Given the description of an element on the screen output the (x, y) to click on. 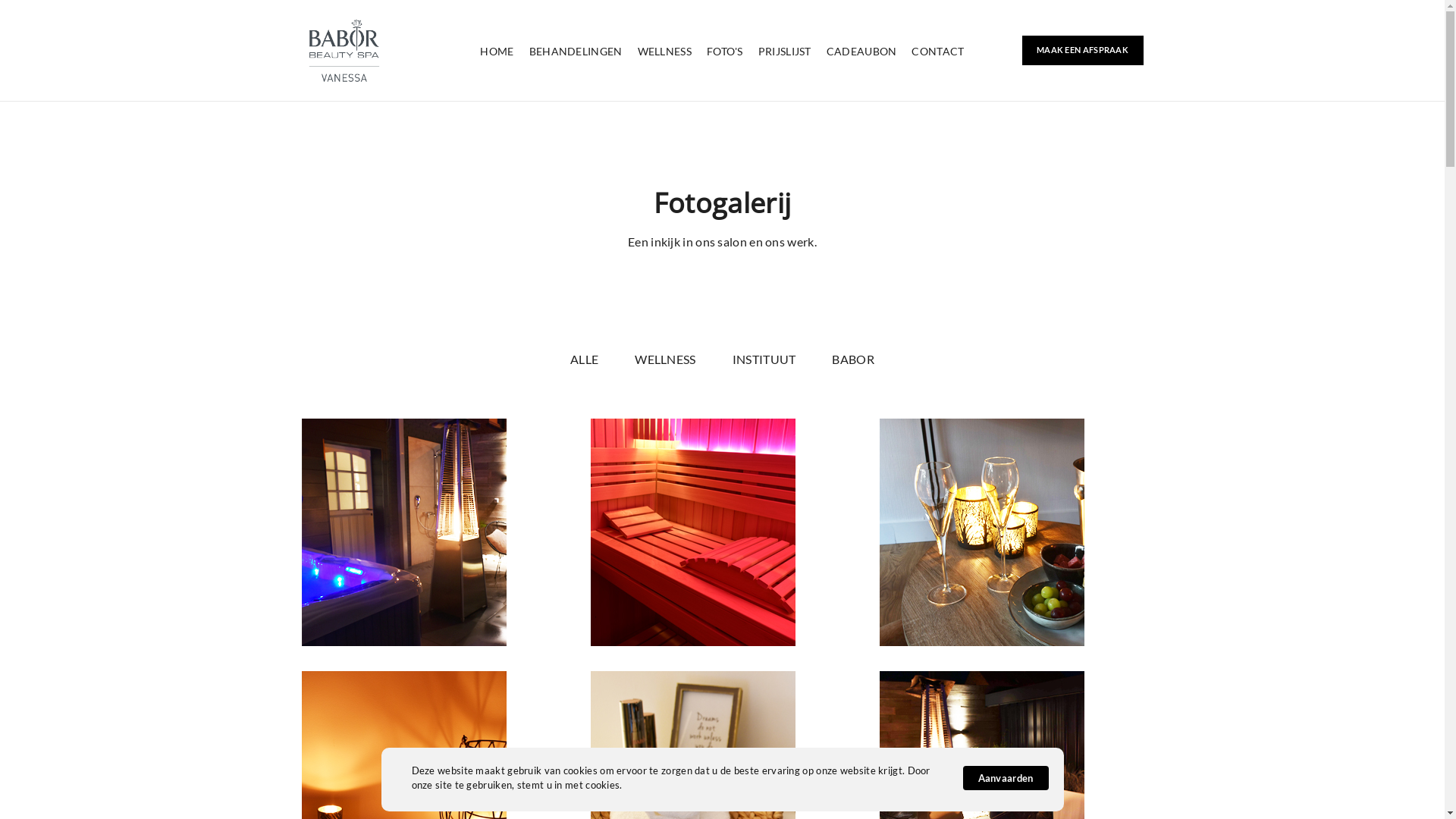
BABOR Element type: text (852, 358)
PRIJSLIJST Element type: text (784, 50)
BEHANDELINGEN Element type: text (575, 50)
INSTITUUT Element type: text (764, 358)
WELLNESS Element type: text (664, 50)
CONTACT Element type: text (937, 50)
MAAK EEN AFSPRAAK Element type: text (1082, 50)
FOTO'S Element type: text (724, 50)
CADEAUBON Element type: text (861, 50)
HOME Element type: text (496, 50)
WELLNESS Element type: text (664, 358)
ALLE Element type: text (584, 358)
